Given the description of an element on the screen output the (x, y) to click on. 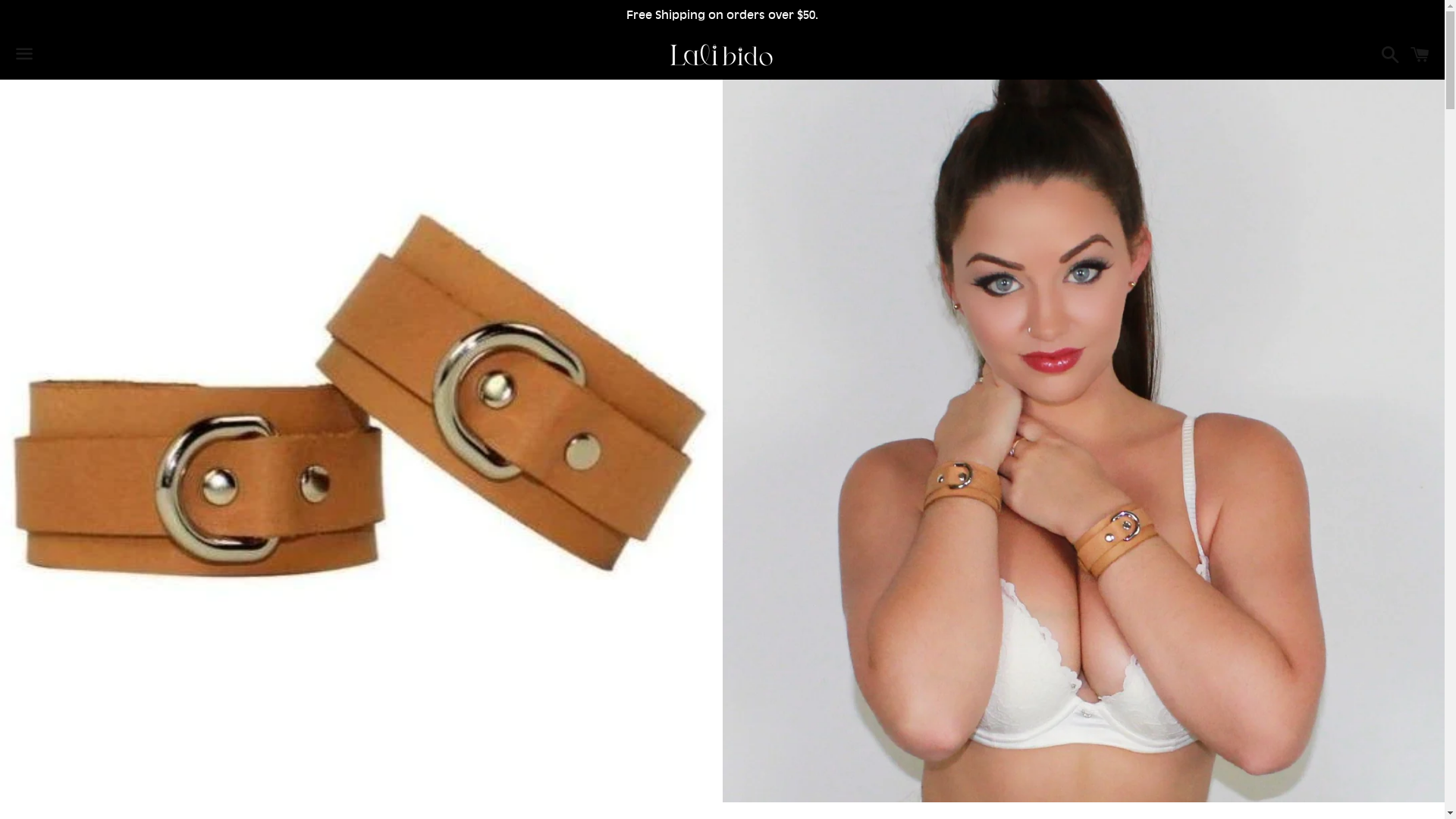
Menu Element type: text (24, 54)
Cart Element type: text (1419, 54)
Search Element type: text (1386, 54)
